Given the description of an element on the screen output the (x, y) to click on. 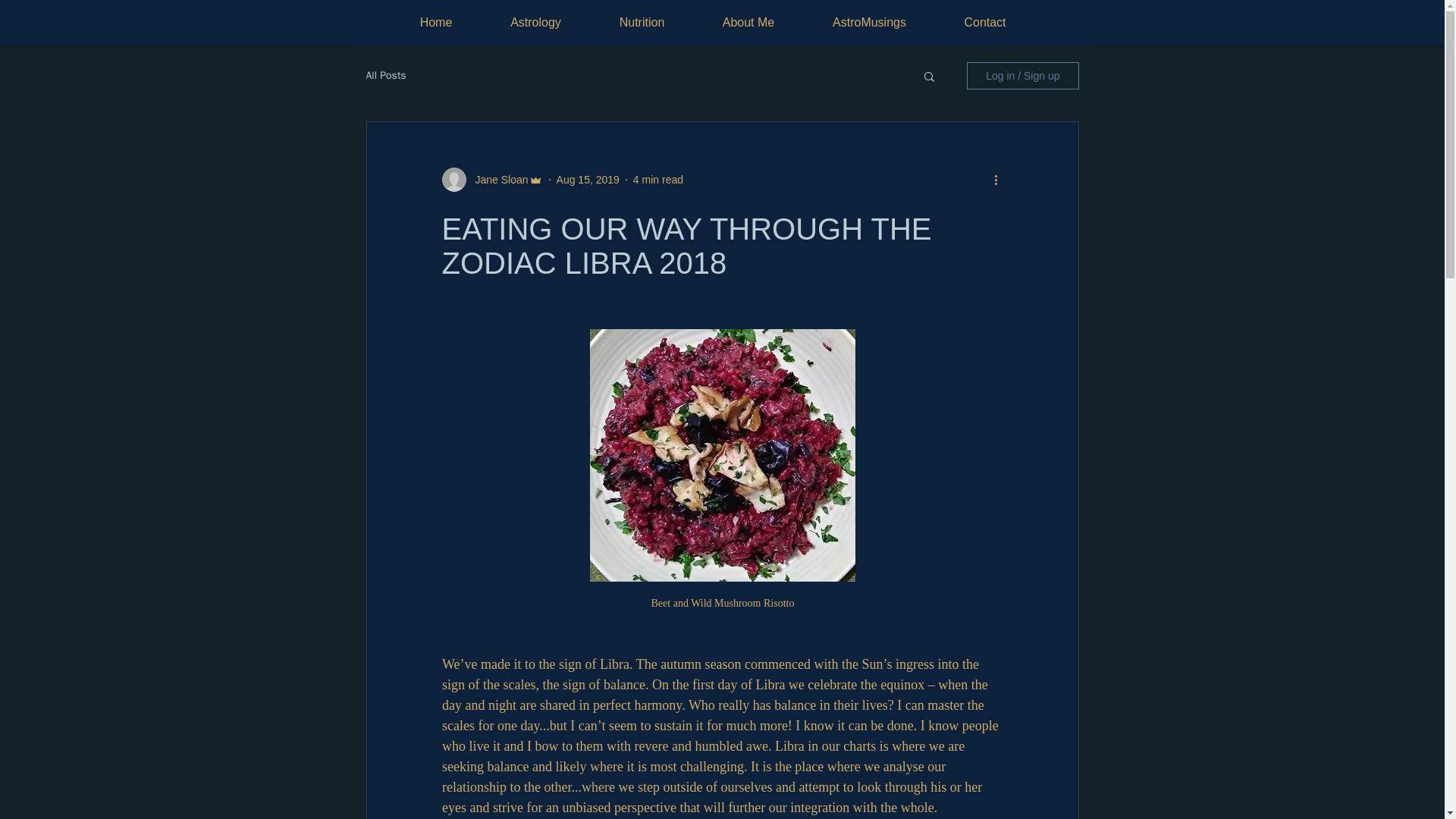
Astrology (513, 22)
Aug 15, 2019 (588, 178)
Nutrition (619, 22)
Contact (961, 22)
Jane Sloan (496, 179)
Home (435, 22)
All Posts (385, 75)
AstroMusings (846, 22)
4 min read (657, 178)
About Me (726, 22)
